Given the description of an element on the screen output the (x, y) to click on. 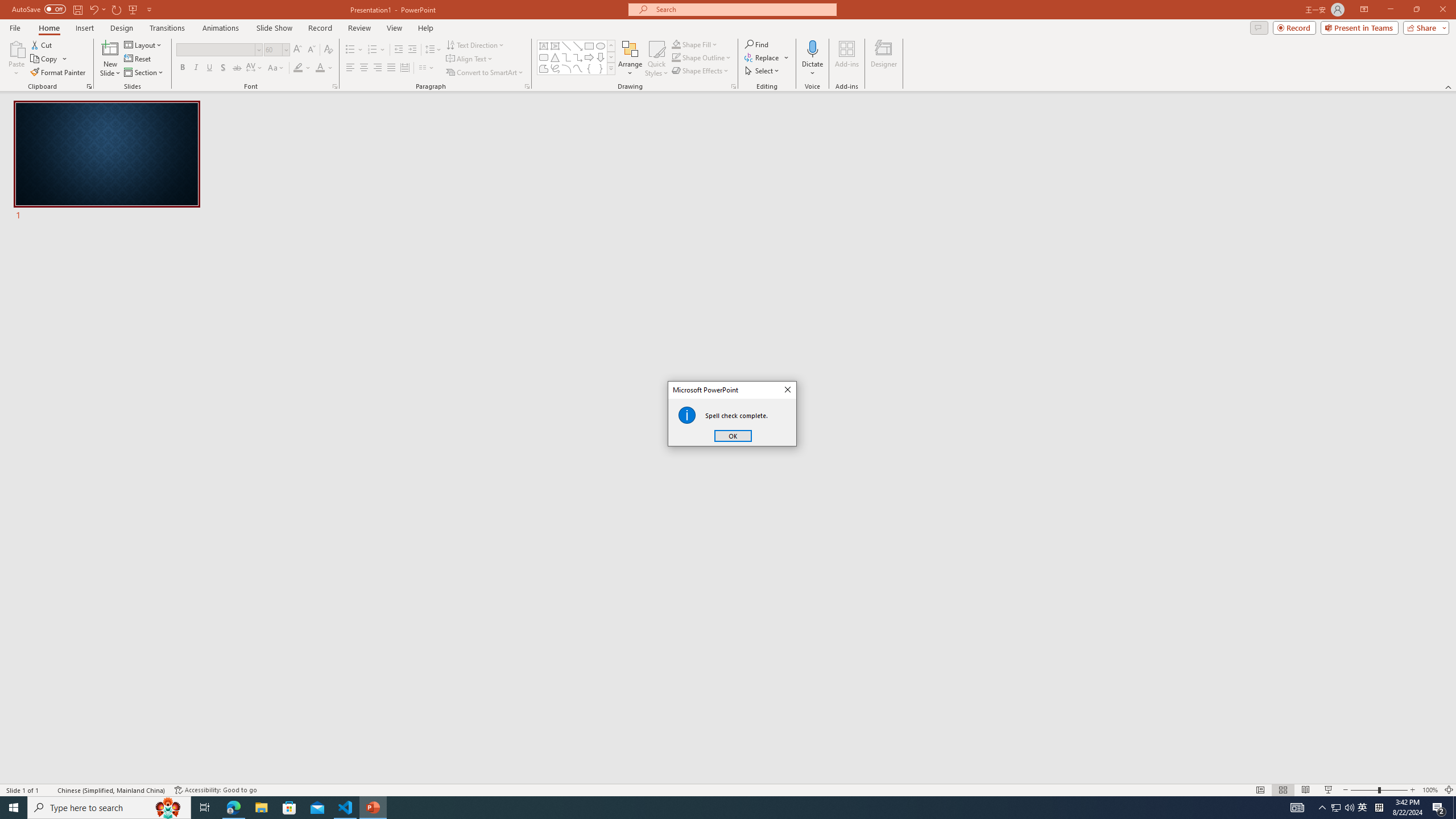
Spell Check  (49, 790)
